Given the description of an element on the screen output the (x, y) to click on. 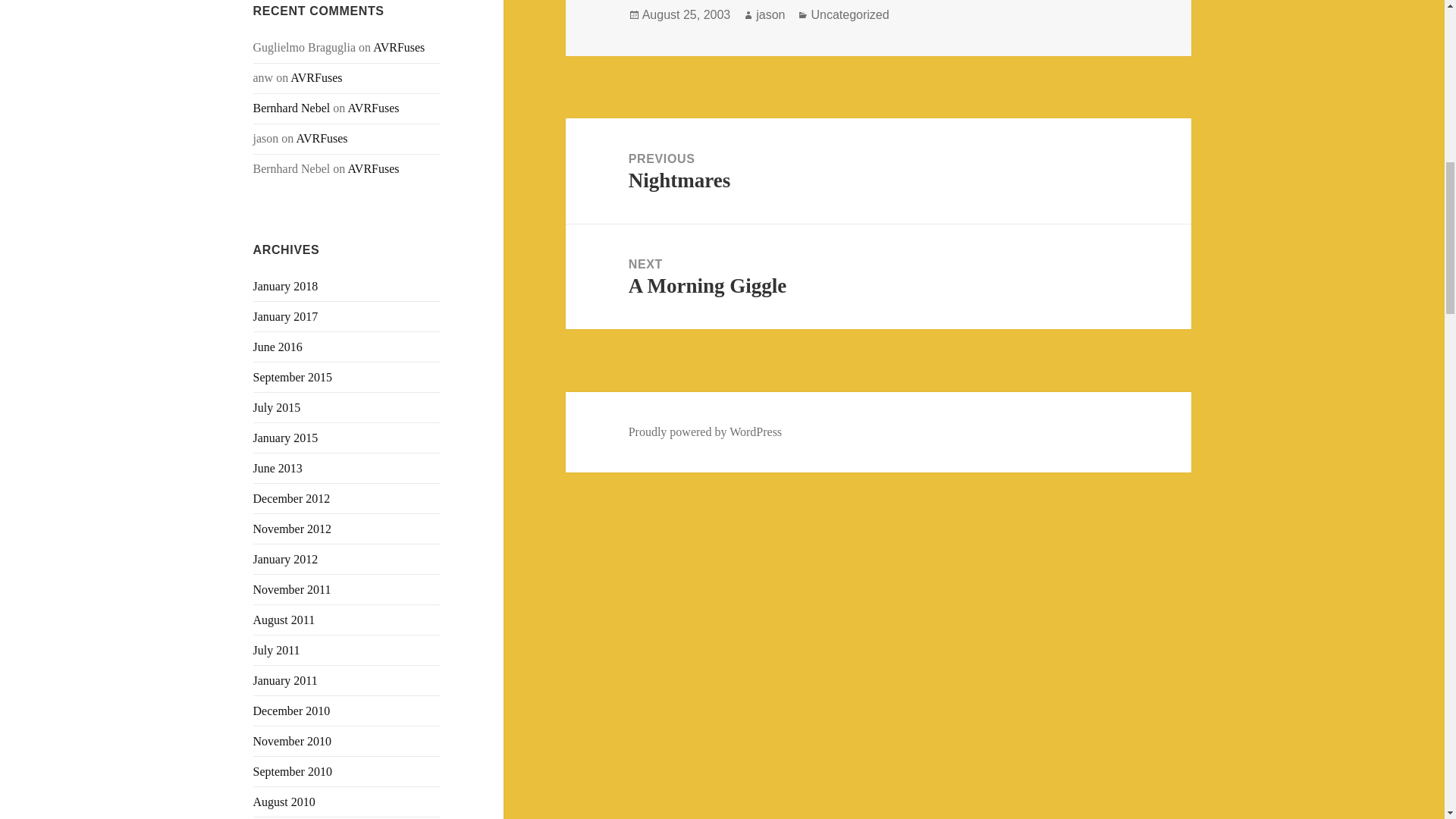
January 2011 (285, 680)
AVRFuses (372, 168)
AVRFuses (398, 47)
July 2011 (276, 649)
January 2012 (285, 558)
AVRFuses (321, 137)
December 2010 (291, 710)
January 2017 (285, 316)
November 2010 (292, 740)
November 2011 (292, 589)
January 2015 (285, 437)
September 2015 (292, 377)
Bernhard Nebel (291, 107)
AVRFuses (315, 77)
AVRFuses (372, 107)
